Given the description of an element on the screen output the (x, y) to click on. 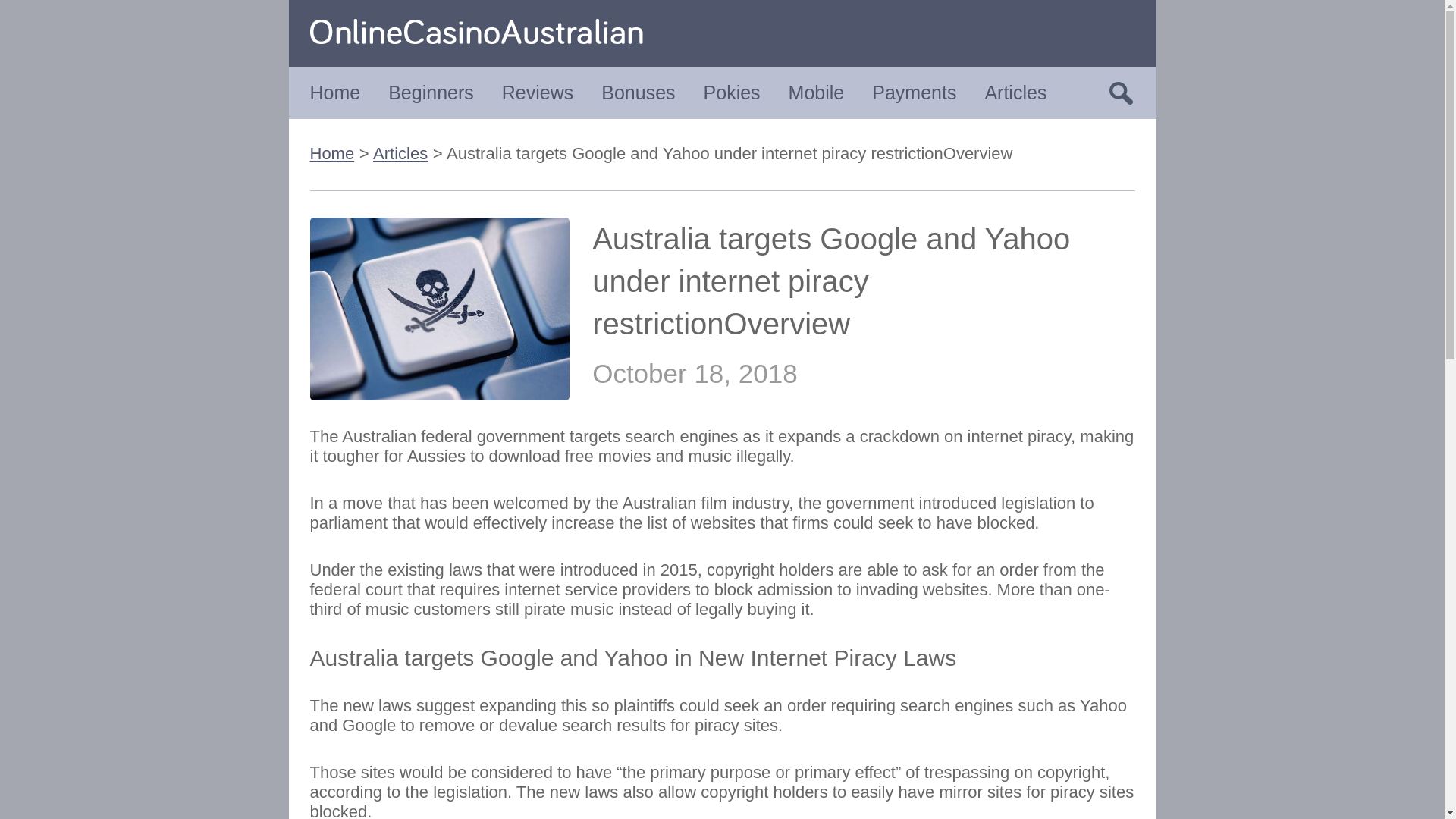
Articles (400, 153)
Bonuses (638, 92)
Reviews (537, 92)
Pokies (731, 92)
Mobile (816, 92)
Home (330, 153)
Home (333, 92)
Mobile (816, 92)
Payments (914, 92)
Beginners (431, 92)
Reviews (537, 92)
Payments (914, 92)
Bonuses (638, 92)
Articles (1015, 92)
Pokies (731, 92)
